Given the description of an element on the screen output the (x, y) to click on. 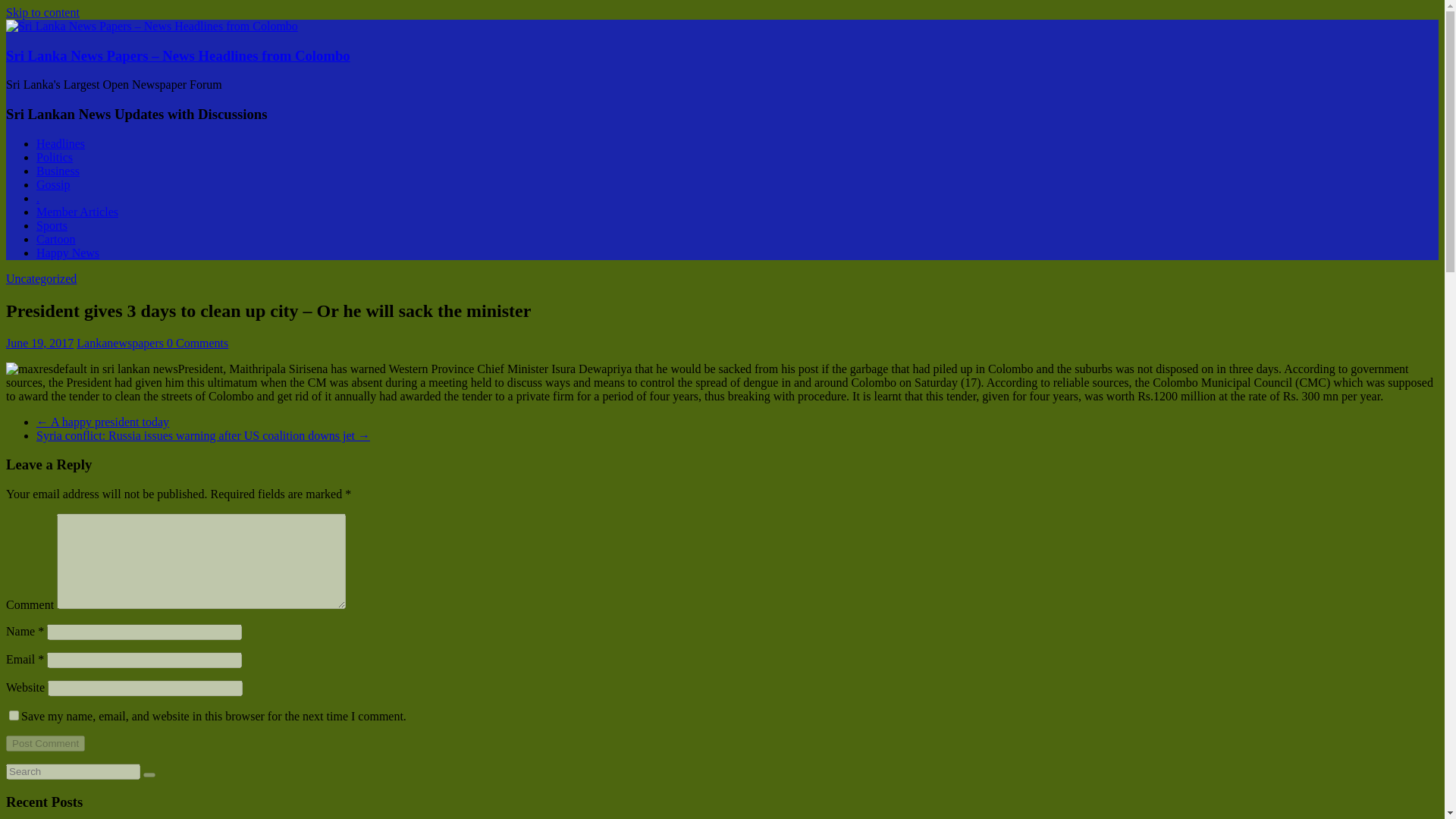
June 19, 2017 (39, 342)
Business (58, 170)
11:44 am (39, 342)
Skip to content (42, 11)
Member Articles (76, 211)
Post Comment (44, 743)
Uncategorized (41, 278)
yes (13, 715)
Lankanewspapers (122, 342)
Politics (54, 156)
. (37, 197)
Headlines (60, 143)
Lankanewspapers (122, 342)
Post Comment (44, 743)
Happy News (67, 252)
